Given the description of an element on the screen output the (x, y) to click on. 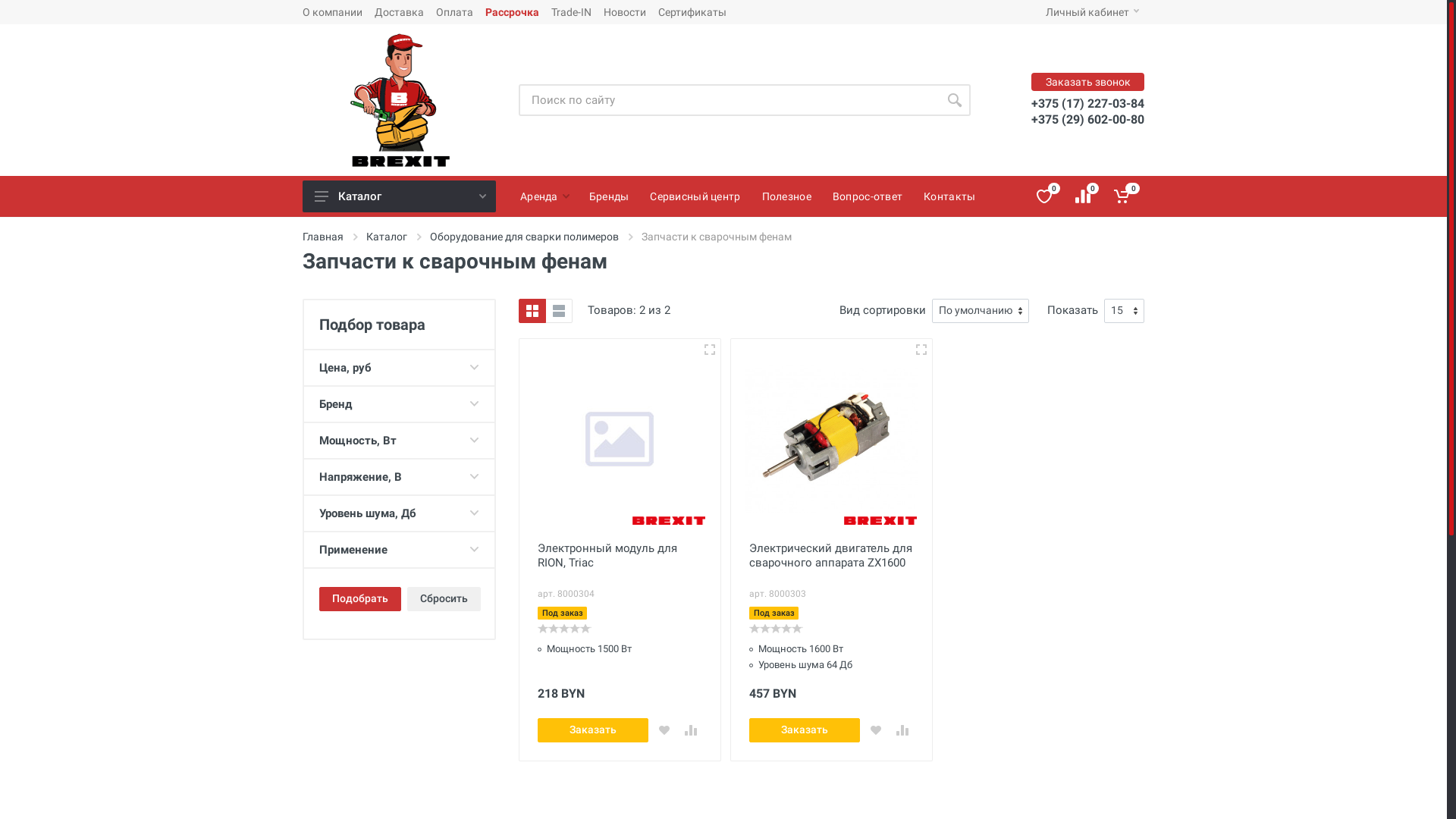
Trade-IN Element type: text (571, 11)
0 Element type: text (1045, 195)
0 Element type: text (1083, 195)
0
0 Element type: text (1123, 195)
List Element type: hover (558, 310)
0 Element type: hover (564, 628)
0 Element type: hover (776, 628)
Grid With Features Element type: hover (532, 310)
+375 (17) 227-03-84 Element type: text (1087, 103)
+375 (29) 602-00-80 Element type: text (1087, 119)
